Given the description of an element on the screen output the (x, y) to click on. 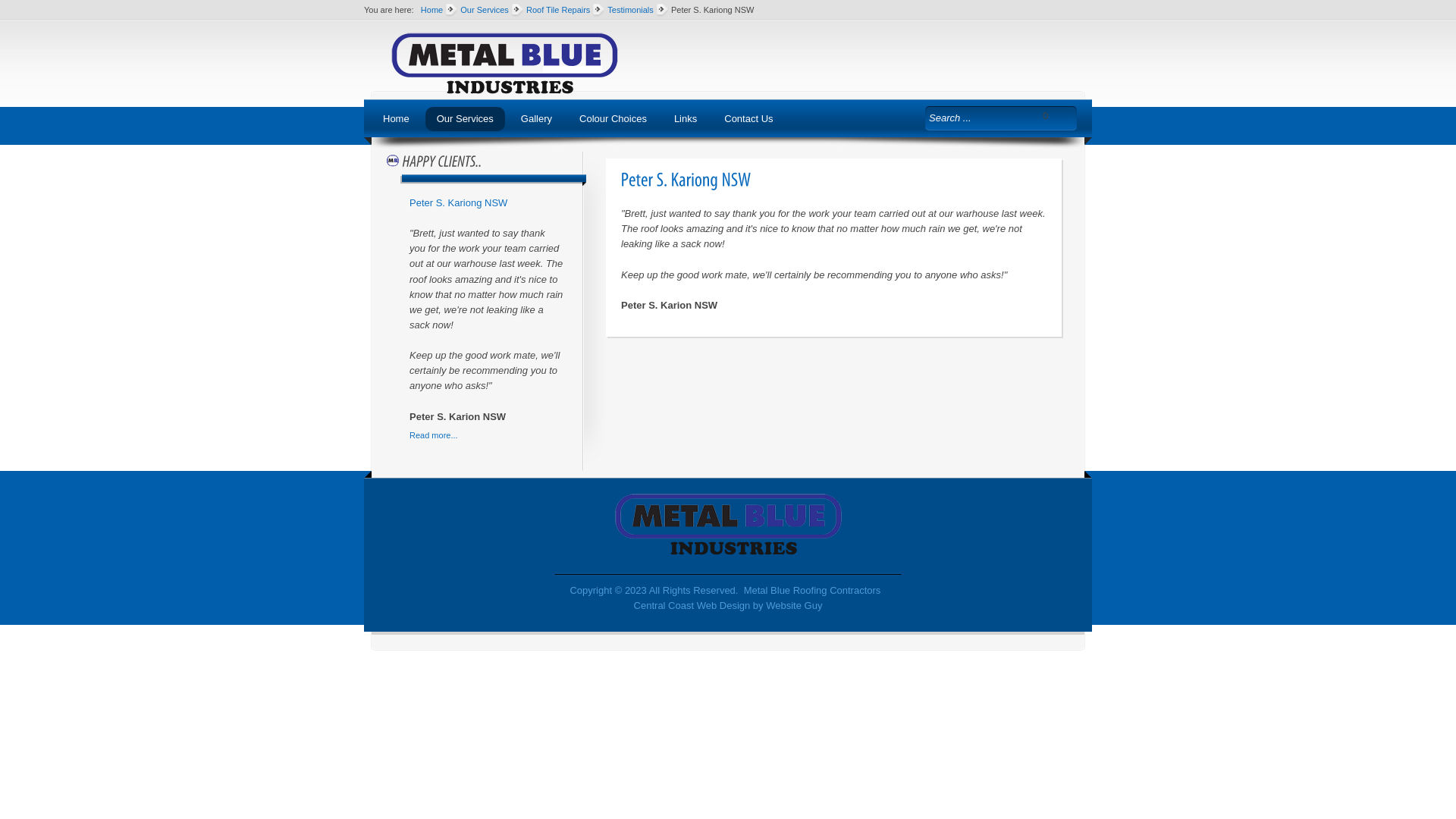
Our Services Element type: text (484, 9)
Roof Tile Repairs Element type: text (557, 9)
Peter S. Kariong NSW Element type: text (458, 202)
Read more... Element type: text (486, 434)
Our Services Element type: text (465, 118)
Colour Choices Element type: text (612, 118)
Testimonials Element type: text (630, 9)
Home Element type: text (431, 9)
Contact Us Element type: text (748, 118)
Gallery Element type: text (536, 118)
Home Element type: text (395, 118)
Links Element type: text (685, 118)
